Given the description of an element on the screen output the (x, y) to click on. 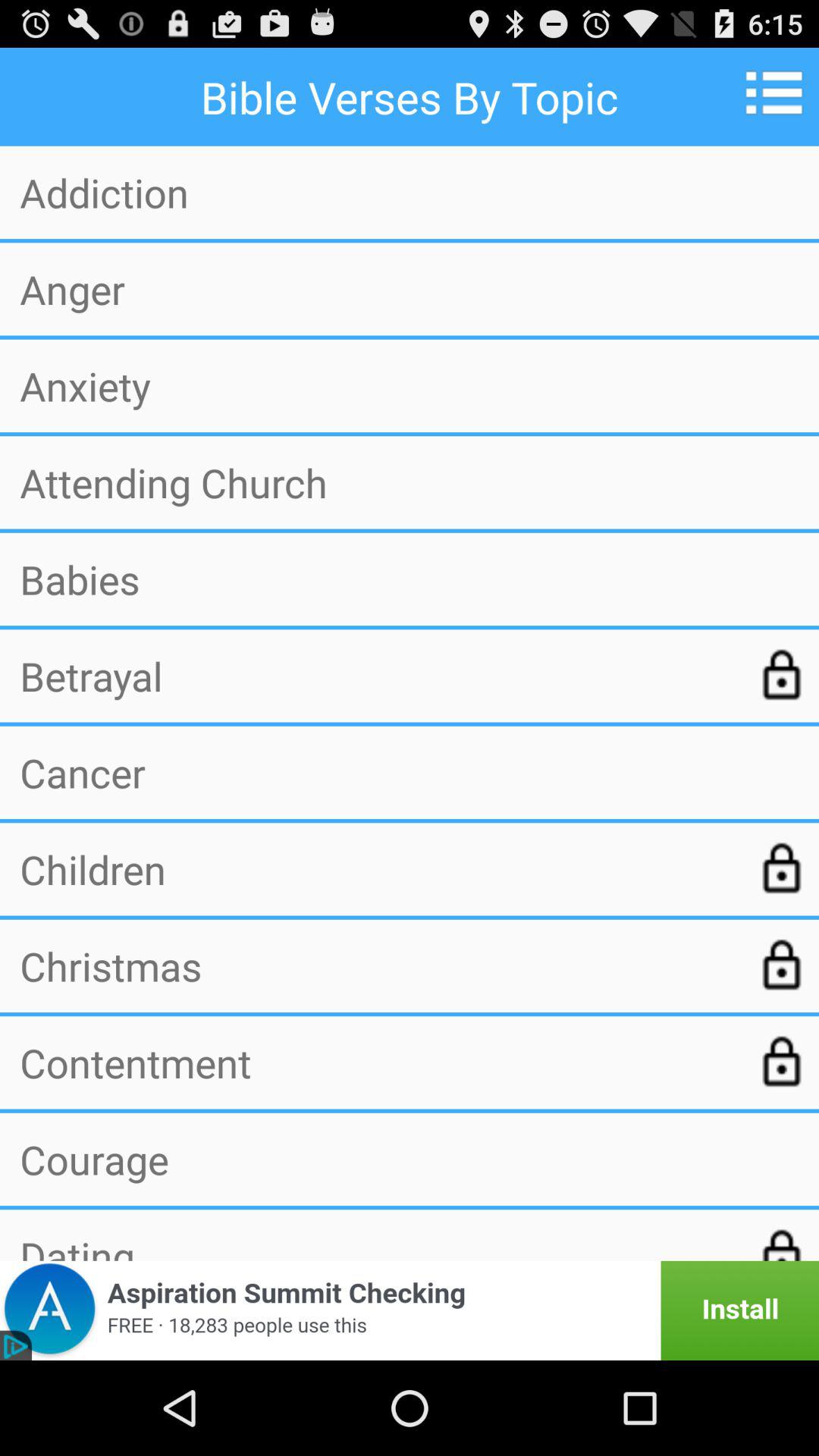
flip to contentment app (376, 1062)
